Given the description of an element on the screen output the (x, y) to click on. 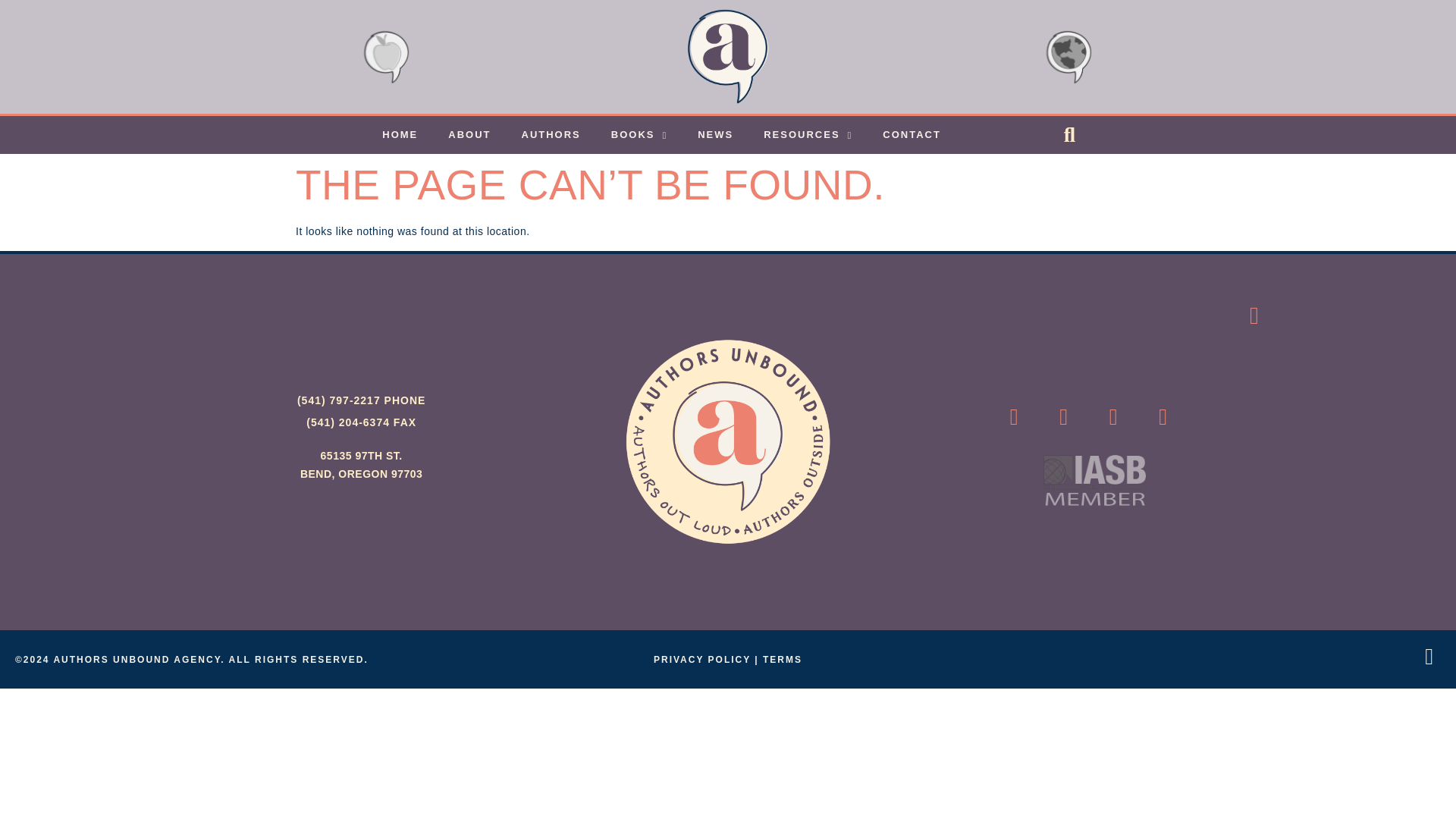
HOME (399, 134)
AUTHORS (550, 134)
RESOURCES (807, 134)
NEWS (715, 134)
ABOUT (468, 134)
CONTACT (911, 134)
BOOKS (638, 134)
